Given the description of an element on the screen output the (x, y) to click on. 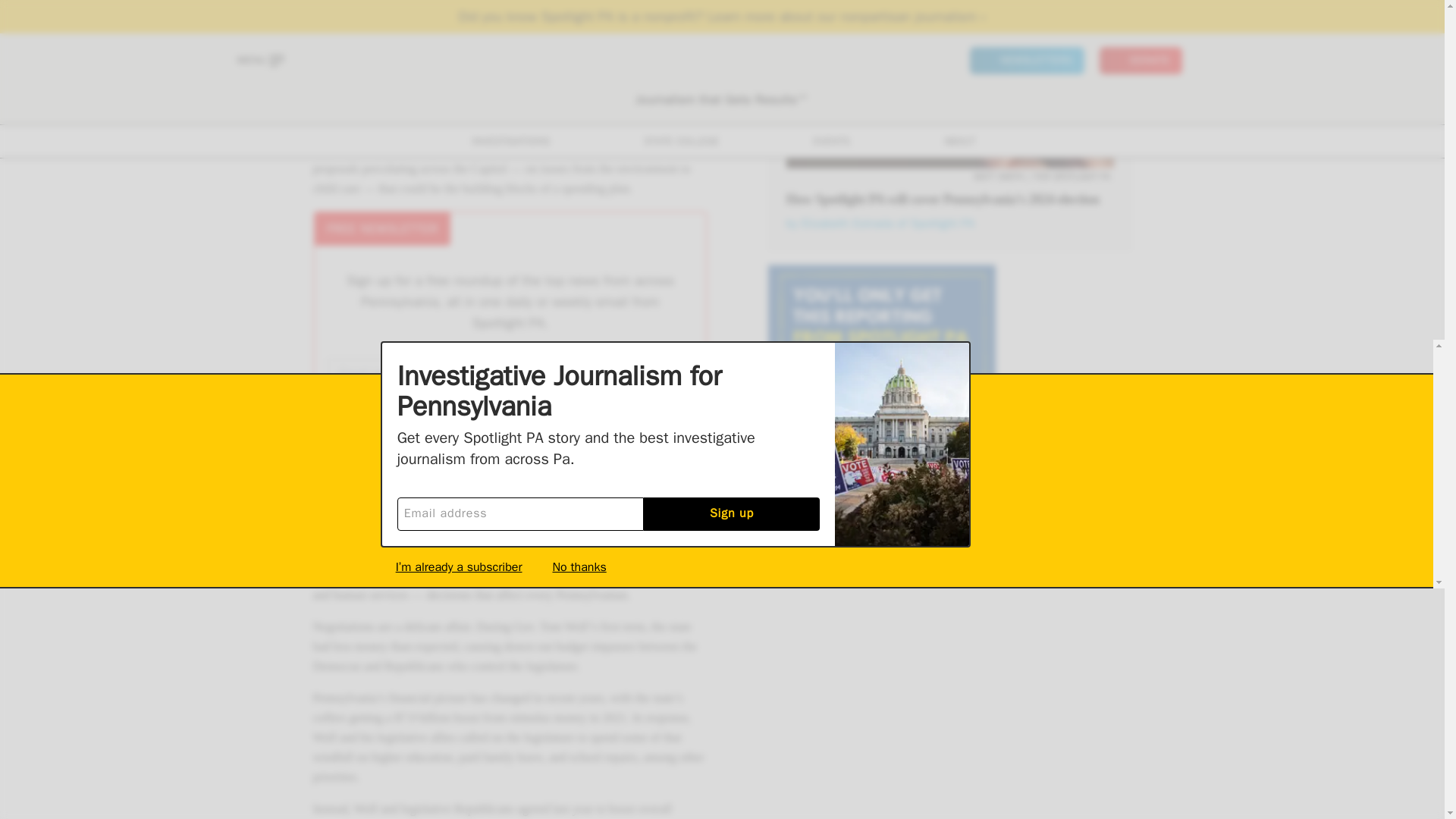
A sticker proclaiming "I voted" in a Pennsylvania election. (949, 84)
